Given the description of an element on the screen output the (x, y) to click on. 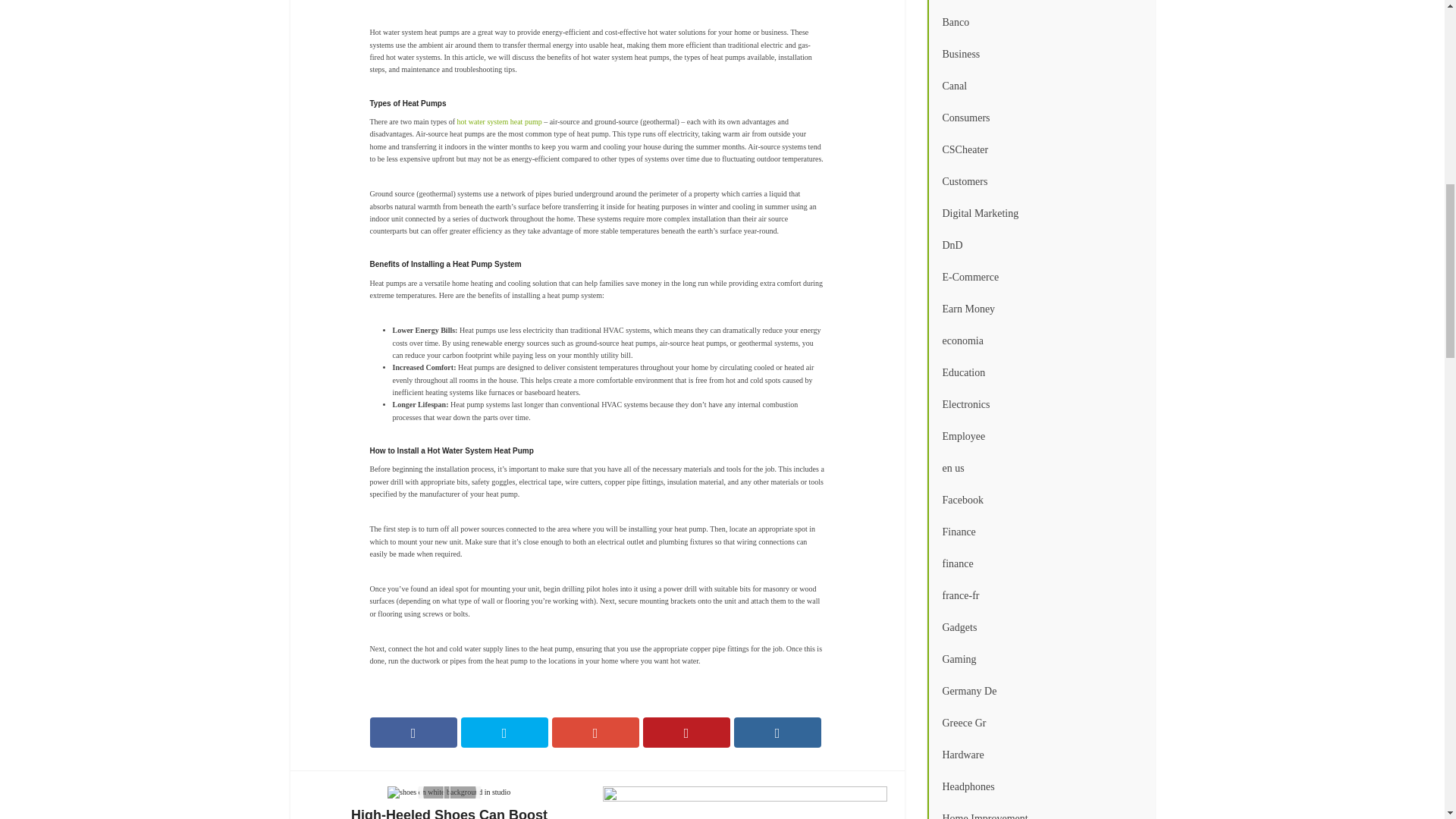
High-Heeled Shoes Can Boost Your Style (449, 802)
Banca (1040, 3)
hot water system heat pump (499, 121)
Explore the Potential of Virtual Therapy for Mental Health (744, 802)
